Given the description of an element on the screen output the (x, y) to click on. 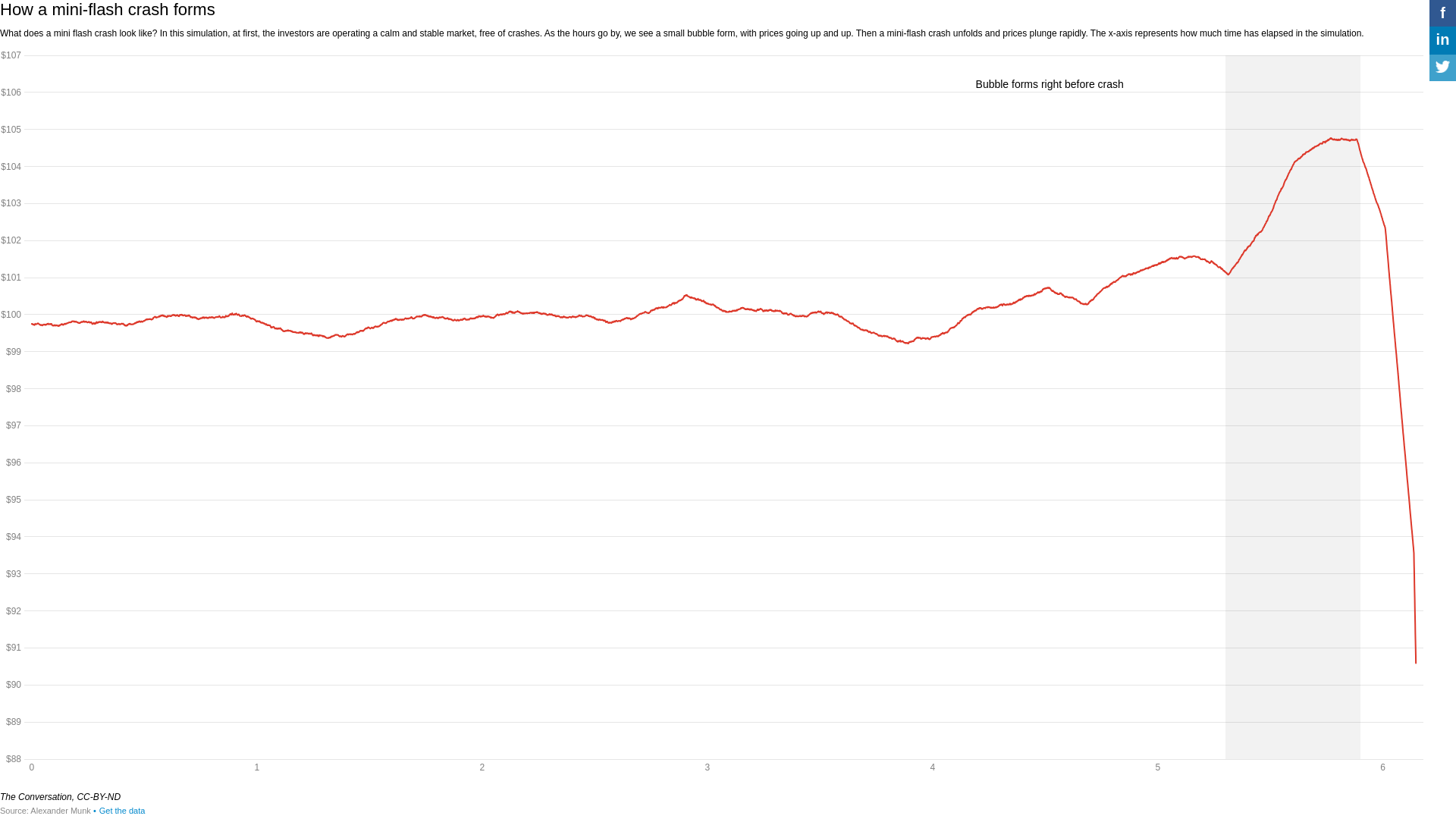
Get the data (118, 809)
